Given the description of an element on the screen output the (x, y) to click on. 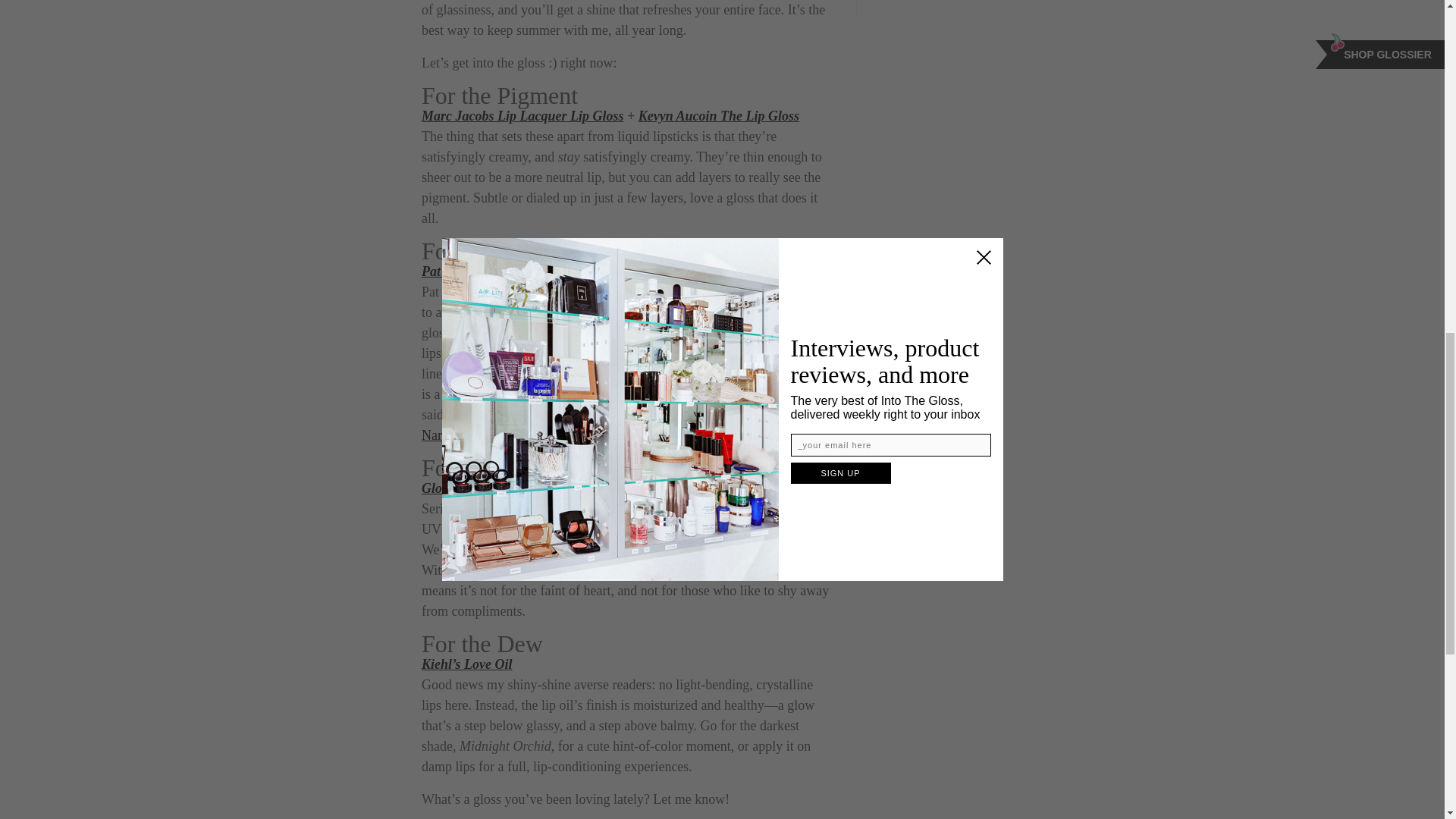
Nars Orgasm blush (474, 435)
Kevyn Aucoin The Lip Gloss (719, 115)
Glossier Lip Gloss in Holographic (518, 488)
Marc Jacobs Lip Lacquer Lip Gloss (522, 115)
Pat McGrath Lust Lip Gloss (501, 271)
